Given the description of an element on the screen output the (x, y) to click on. 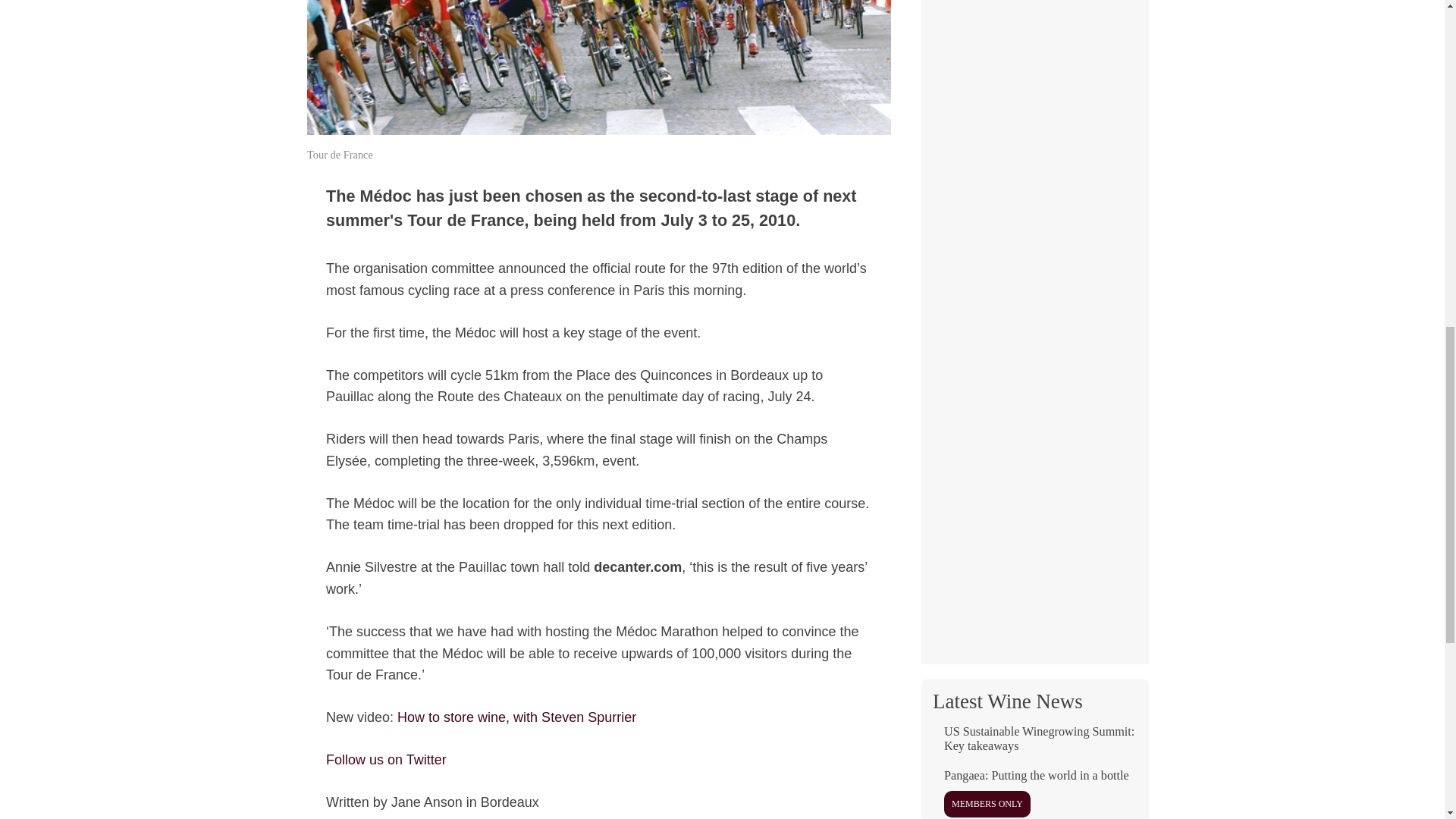
Pangaea: Putting the world in a bottle (1035, 794)
US Sustainable Winegrowing Summit: Key takeaways (1035, 744)
